Given the description of an element on the screen output the (x, y) to click on. 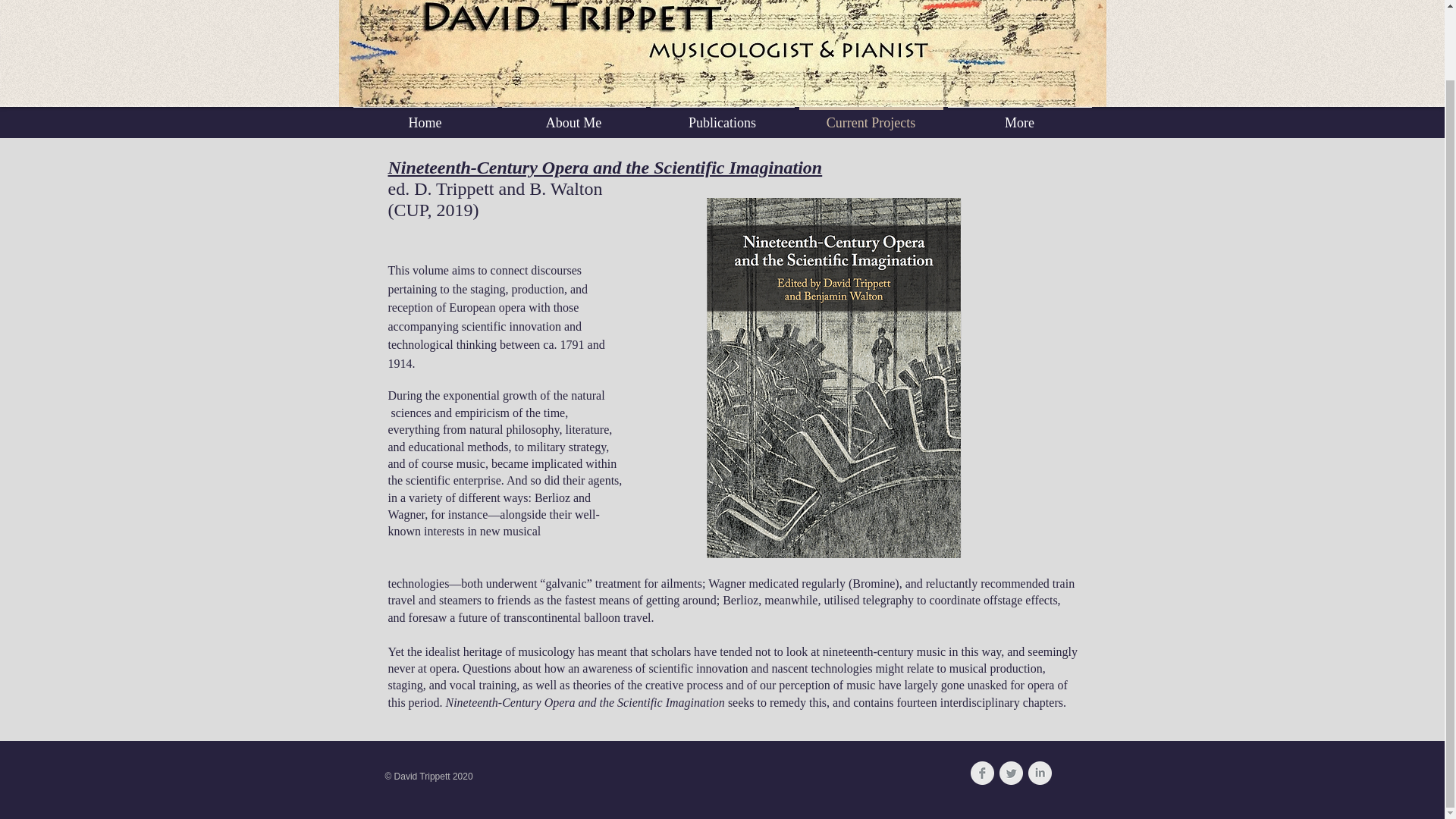
Publications (721, 116)
Nineteenth-Century Opera and the Scientific Imagination (605, 167)
Home (424, 116)
Current Projects (870, 116)
About Me (573, 116)
